Given the description of an element on the screen output the (x, y) to click on. 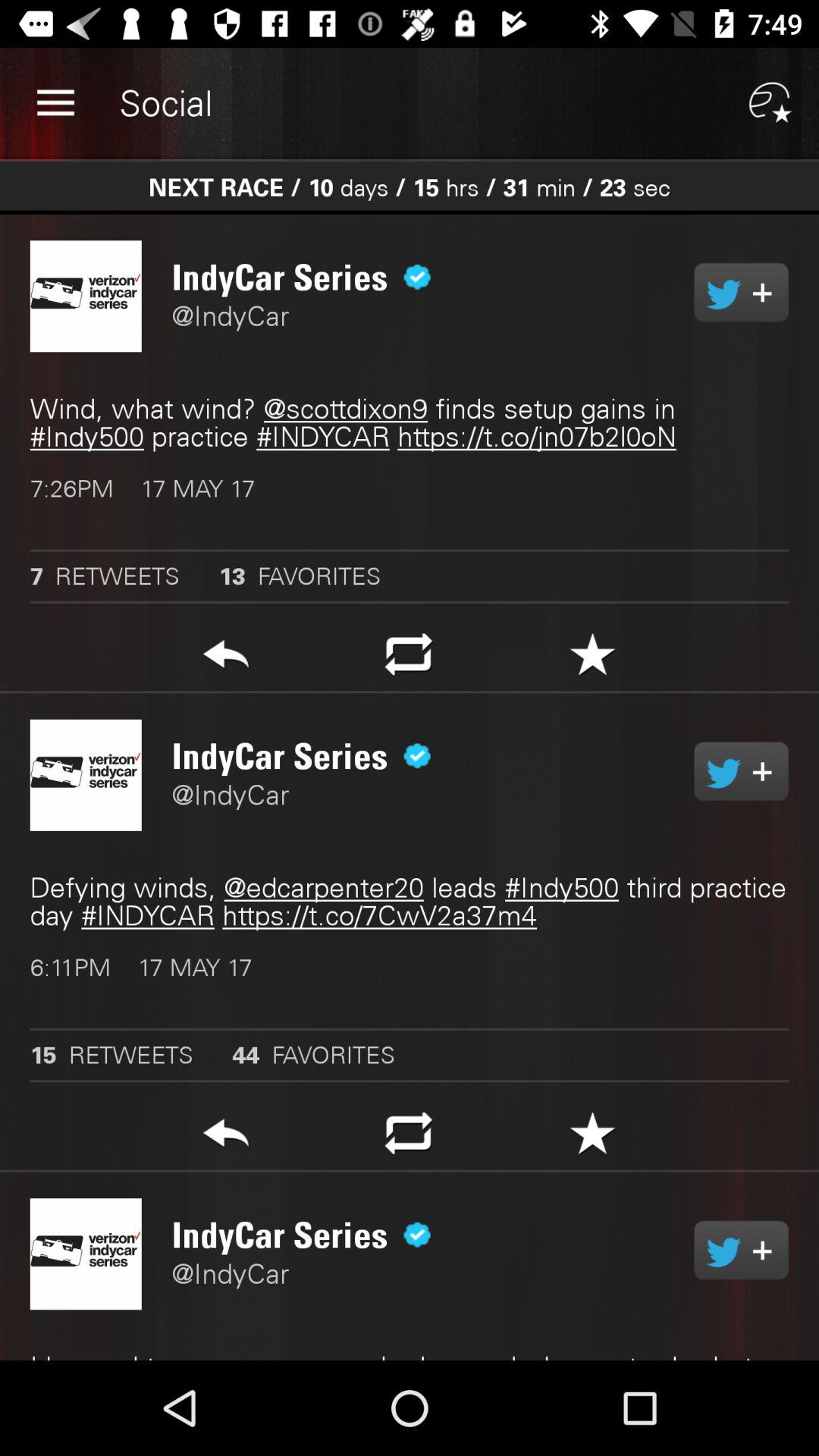
go back (225, 1137)
